Given the description of an element on the screen output the (x, y) to click on. 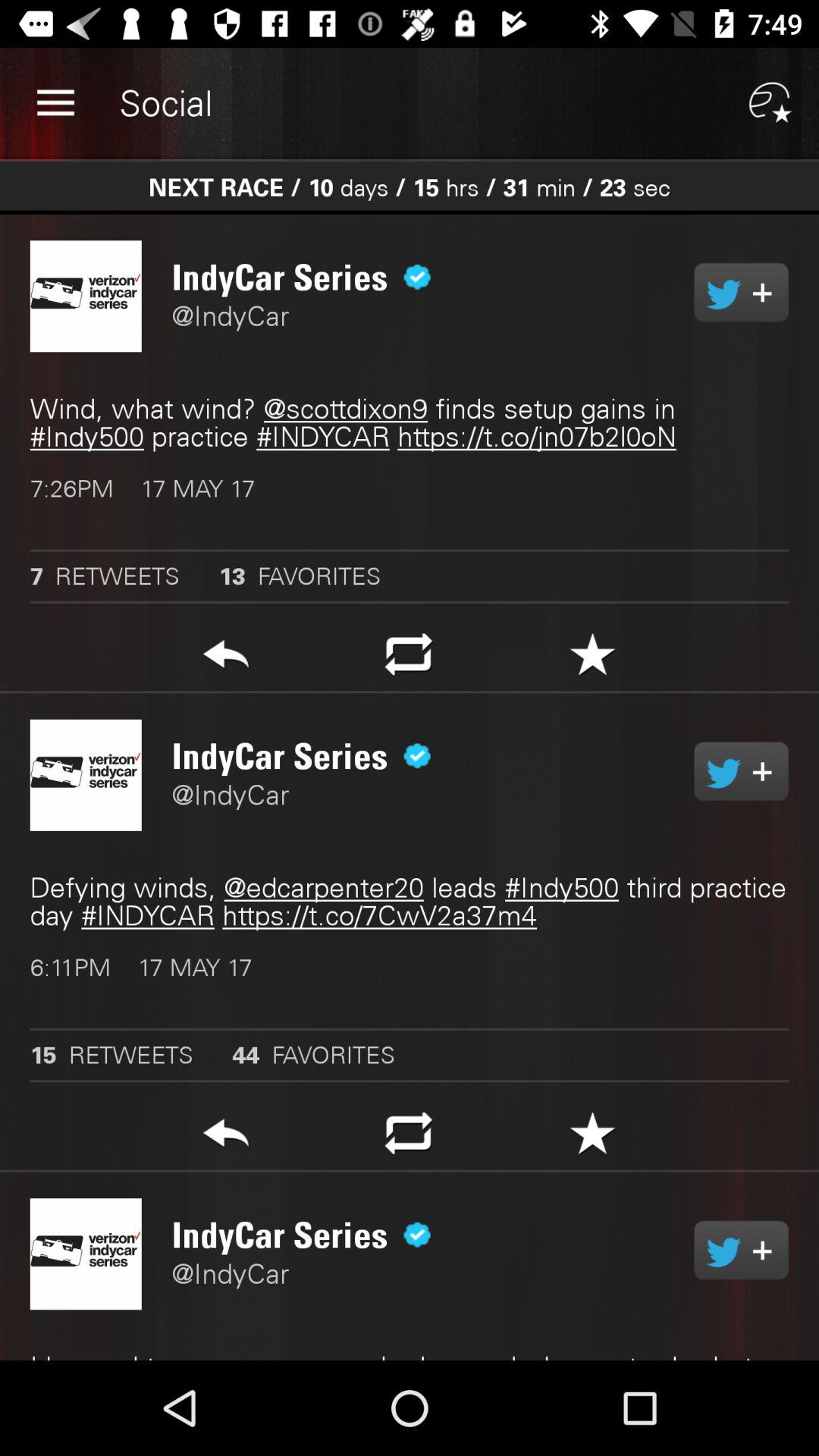
go back (225, 1137)
